Given the description of an element on the screen output the (x, y) to click on. 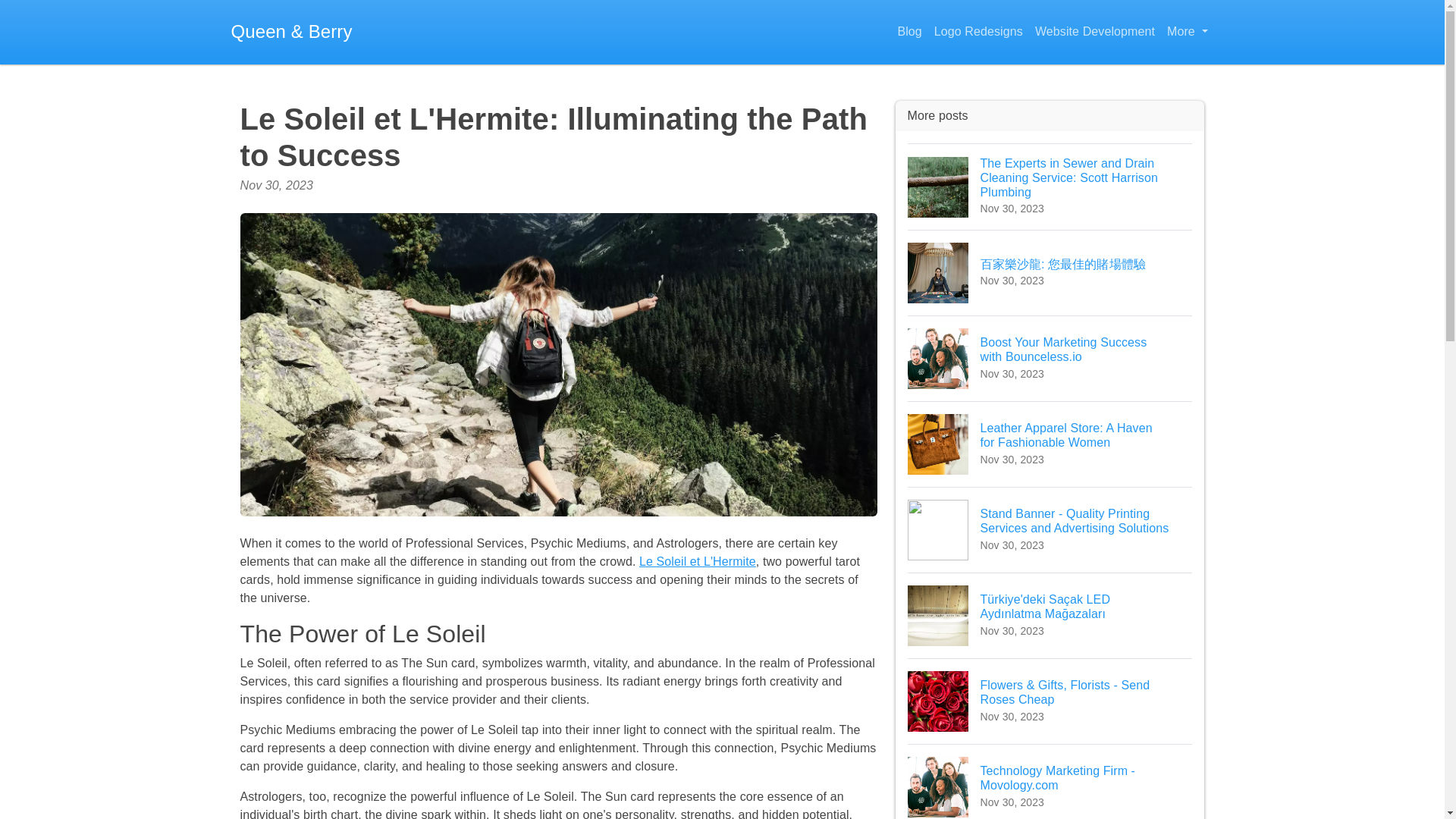
More (1186, 32)
Logo Redesigns (1049, 781)
Blog (978, 32)
Le Soleil et L'Hermite (909, 32)
Website Development (697, 561)
